Given the description of an element on the screen output the (x, y) to click on. 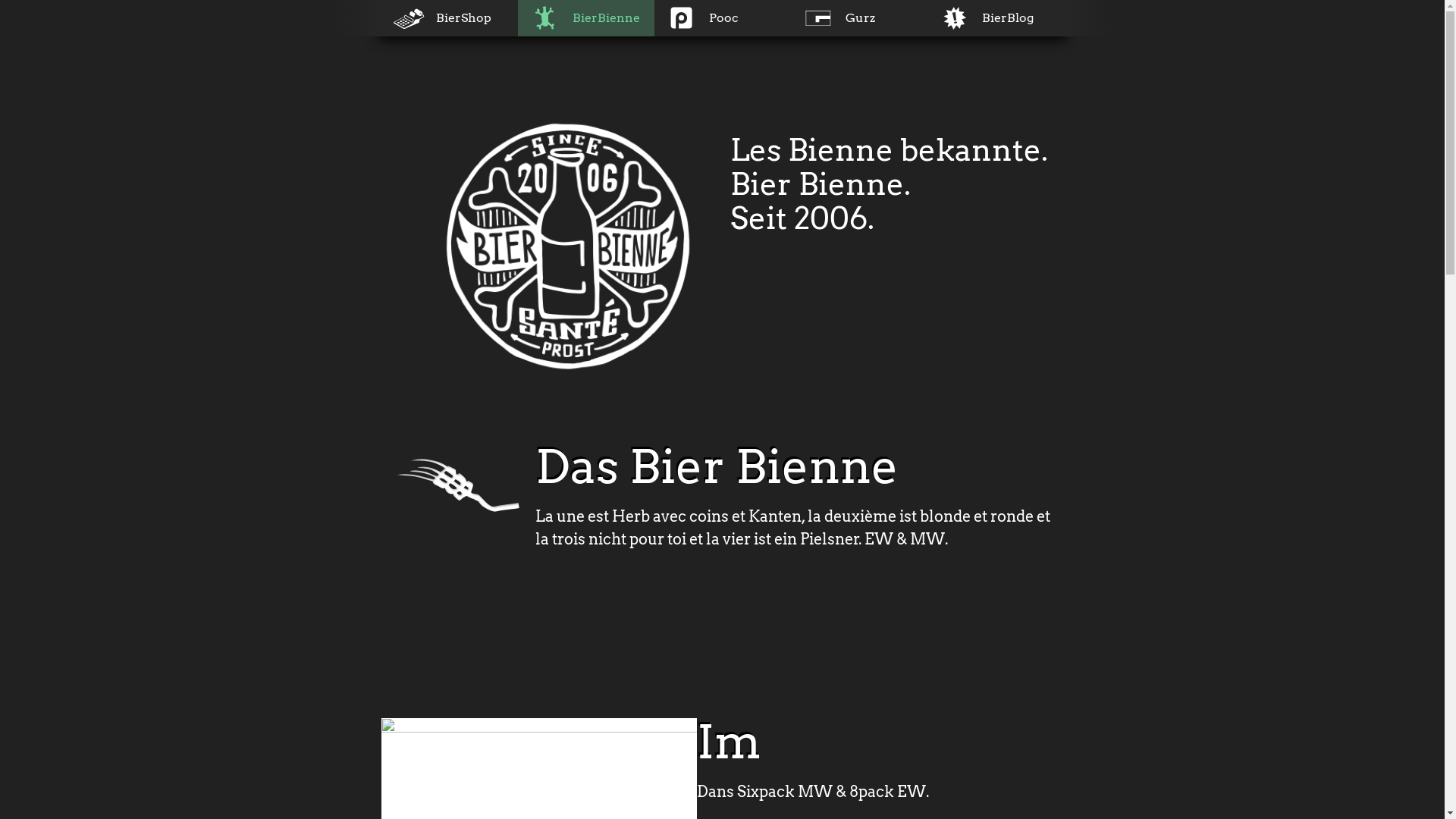
BierBienne Element type: text (585, 18)
Pooc Element type: text (721, 18)
Gurz Element type: text (858, 18)
BierShop Element type: text (448, 18)
BierBlog Element type: text (994, 18)
